Given the description of an element on the screen output the (x, y) to click on. 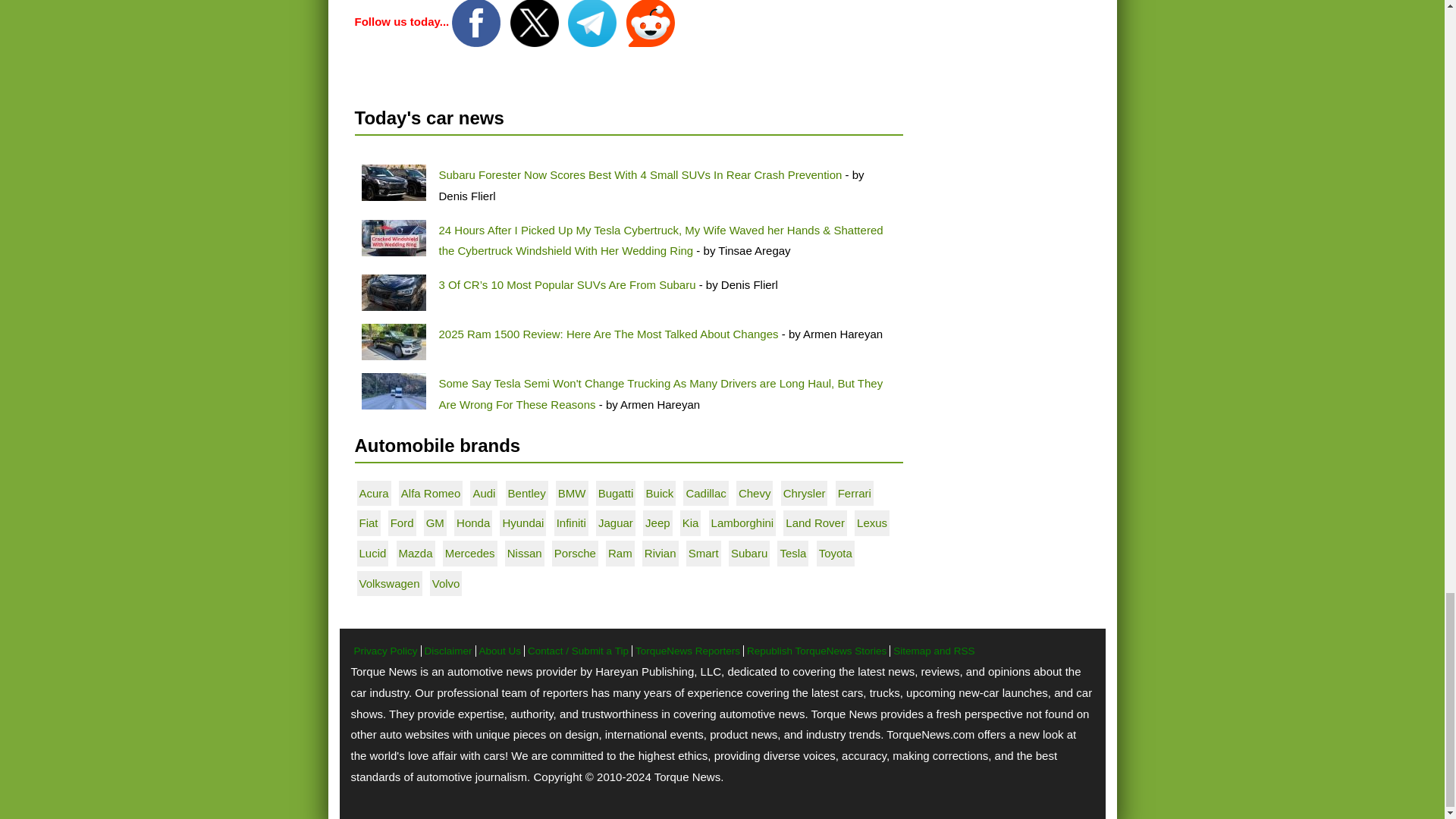
Join us on Reddit! (650, 21)
Tesla Semi taking on diesel truck (393, 391)
Join us on Telegram! (593, 21)
2024 Subaru Forester front grille view (393, 292)
2024 Subaru Forester on dealer's lot (393, 182)
2025 Ram 1500 Review (393, 341)
